Given the description of an element on the screen output the (x, y) to click on. 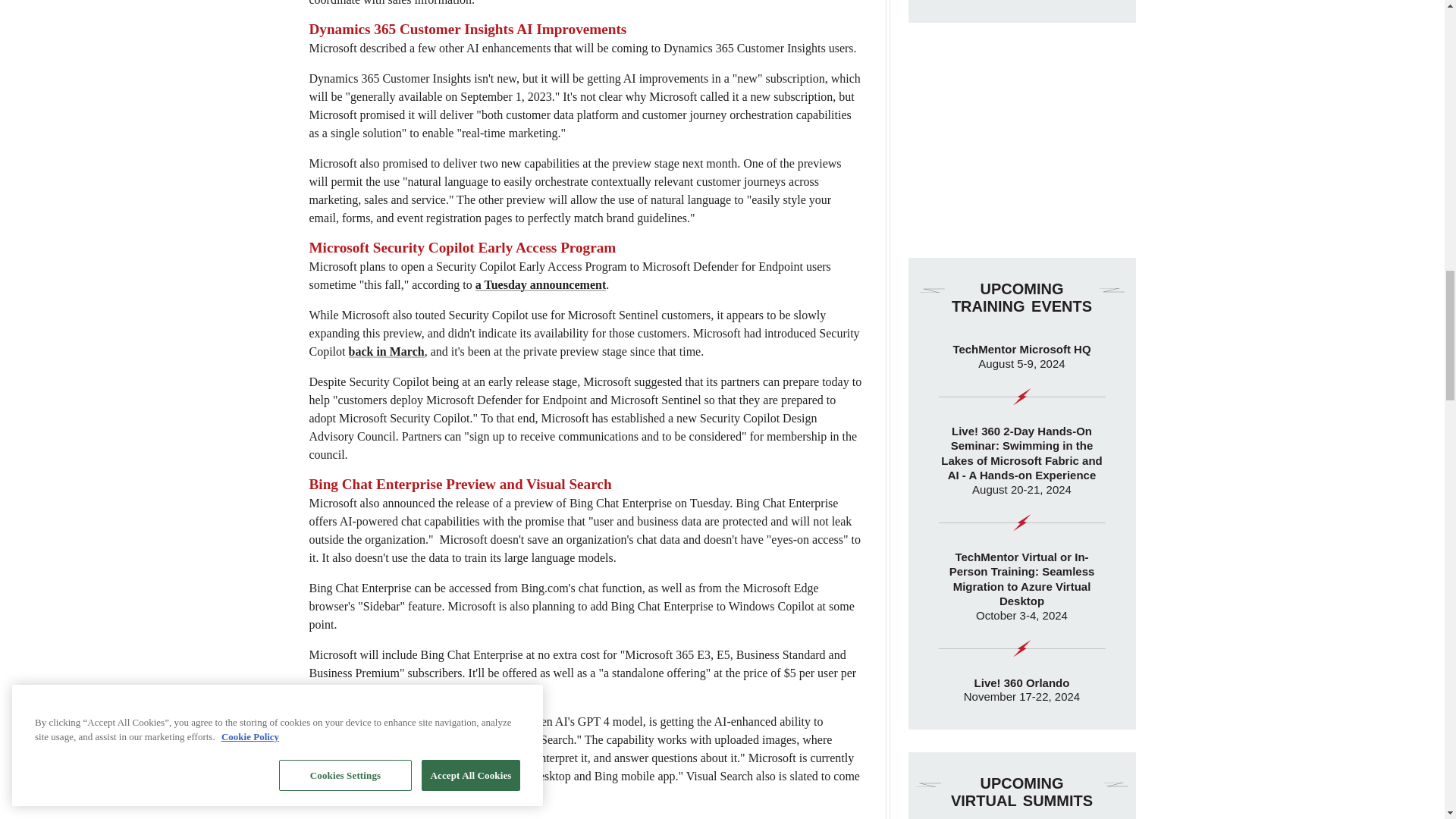
3rd party ad content (1021, 140)
back in March (387, 350)
a Tuesday announcement (541, 284)
